Given the description of an element on the screen output the (x, y) to click on. 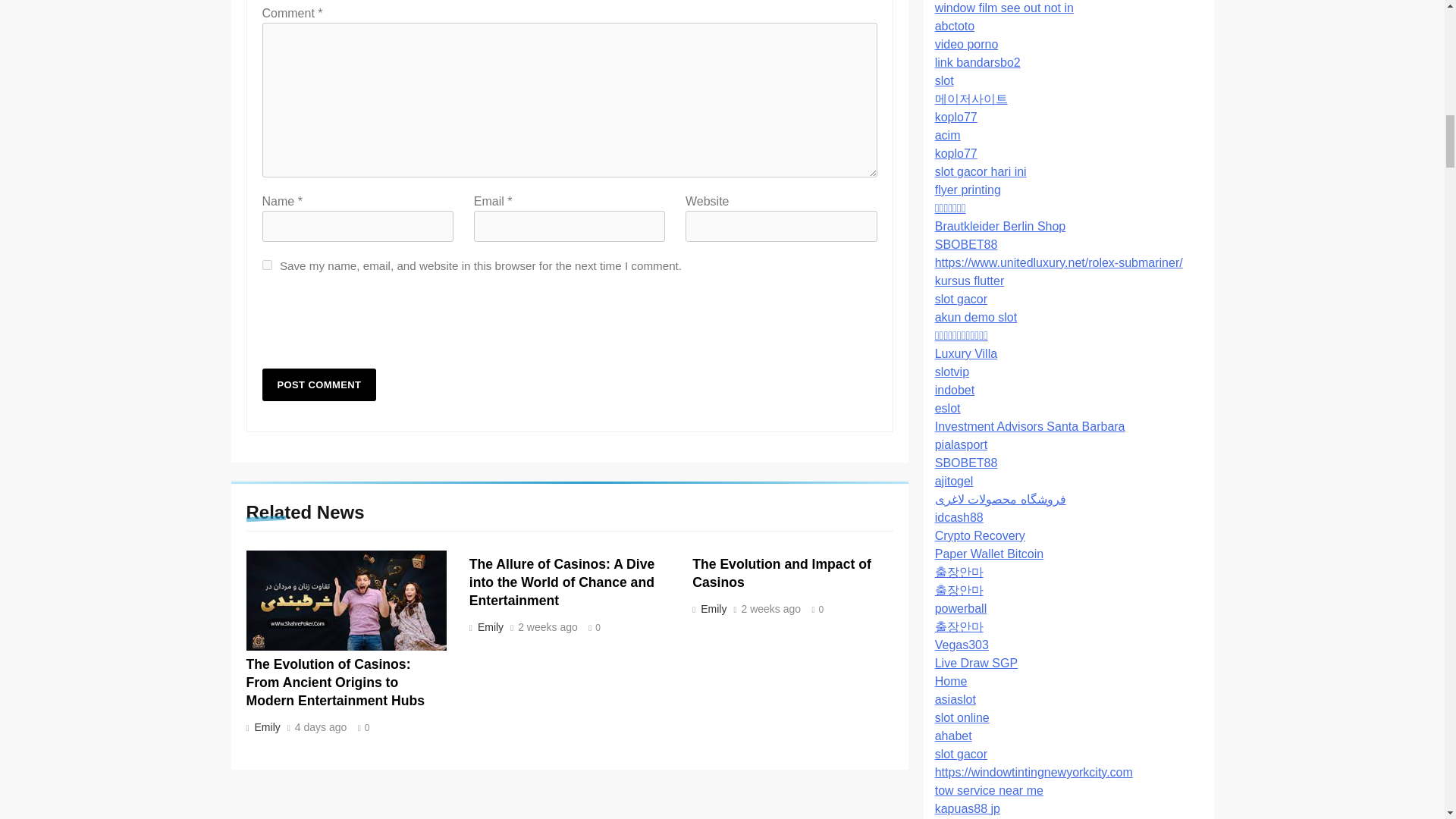
Emily (265, 727)
Post Comment (319, 384)
Emily (712, 608)
4 days ago (321, 727)
Emily (488, 626)
The Evolution and Impact of Casinos (781, 572)
yes (267, 265)
reCAPTCHA (377, 326)
2 weeks ago (548, 627)
Post Comment (319, 384)
2 weeks ago (771, 609)
